Given the description of an element on the screen output the (x, y) to click on. 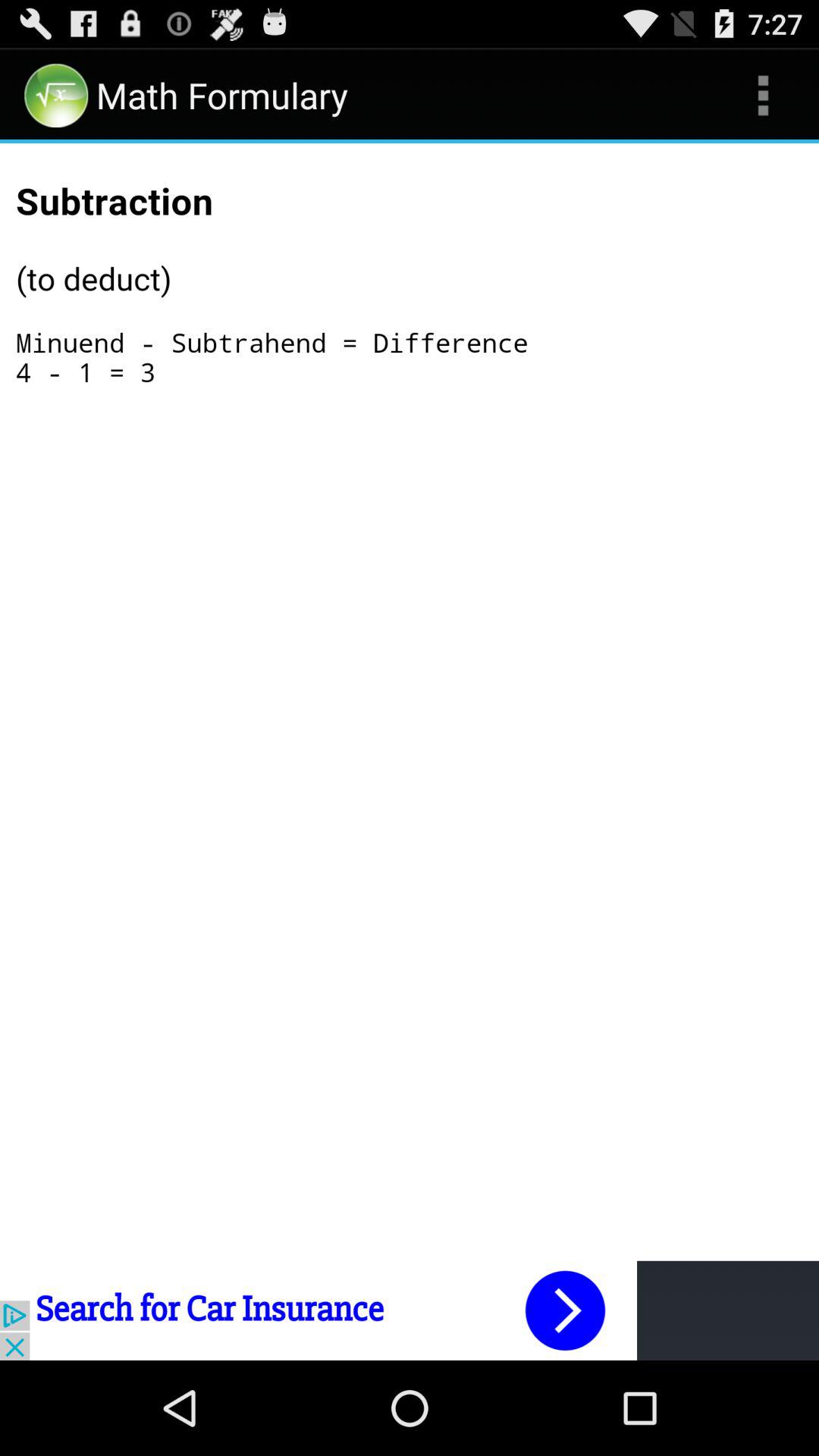
advertisement (409, 1310)
